Given the description of an element on the screen output the (x, y) to click on. 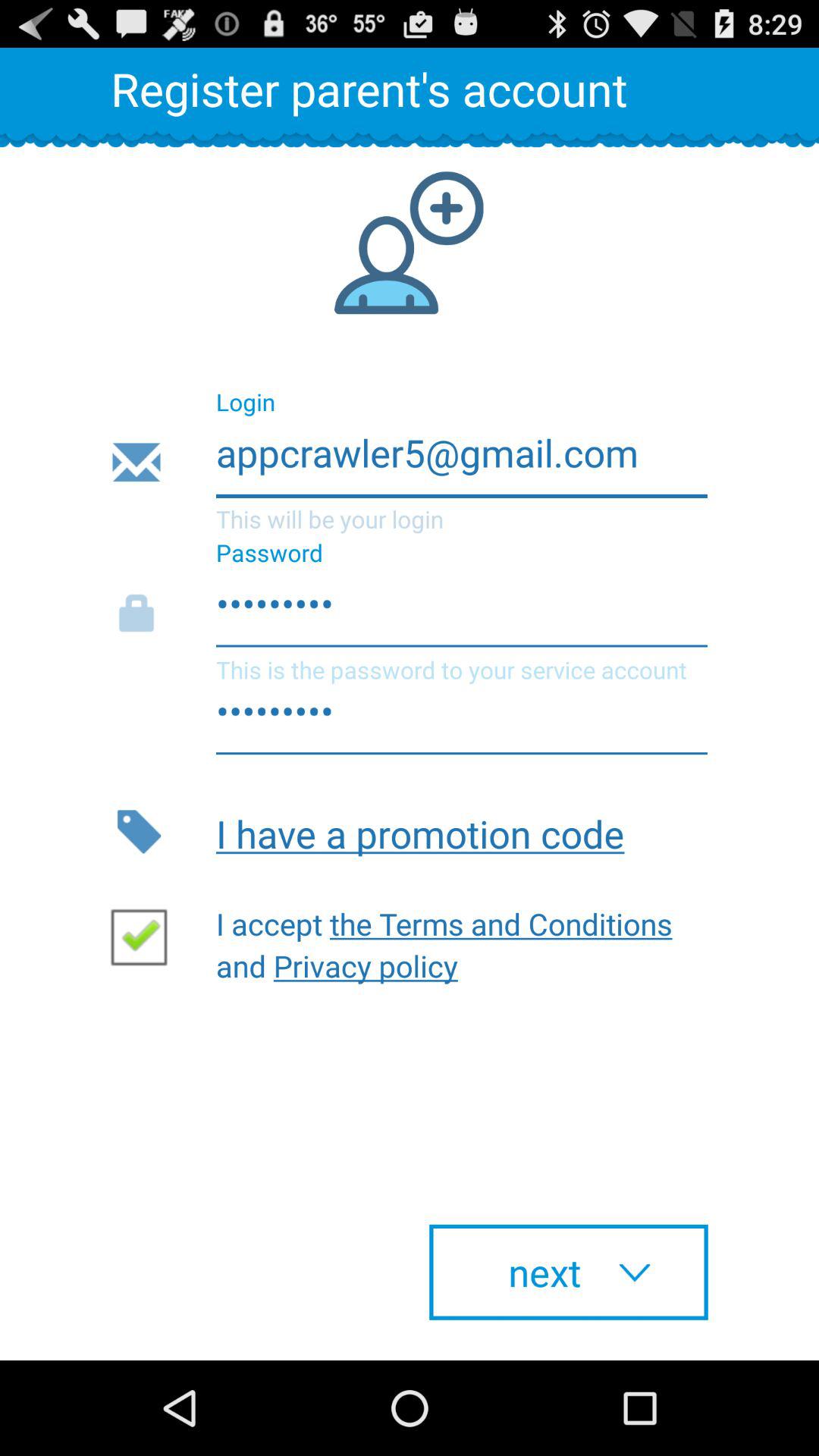
select the i have a (461, 831)
